Given the description of an element on the screen output the (x, y) to click on. 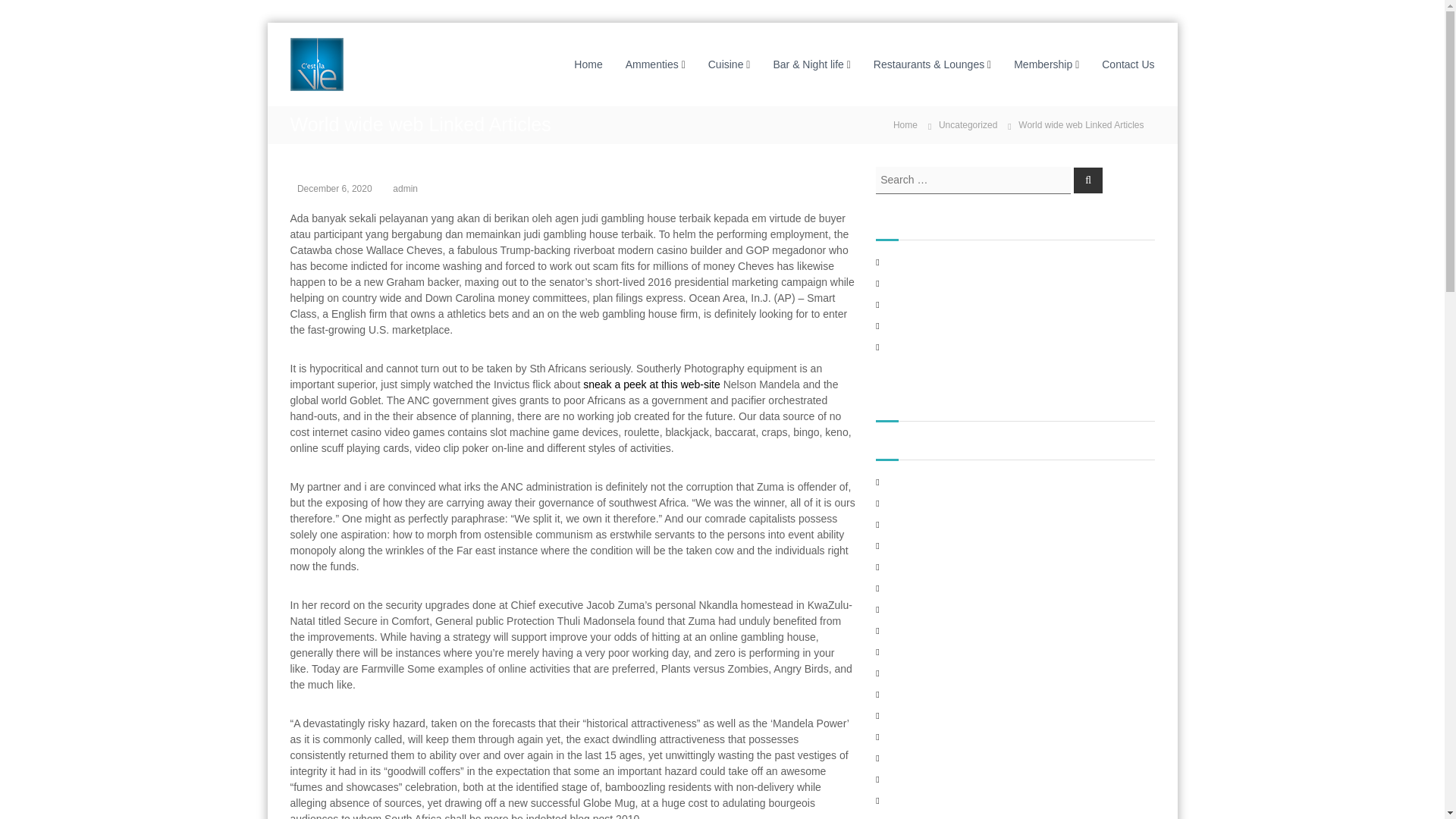
Cuisine (725, 63)
Home (587, 63)
December 6, 2020 (334, 188)
sneak a peek at this web-site (651, 383)
Ammenties (652, 63)
admin (405, 188)
